Given the description of an element on the screen output the (x, y) to click on. 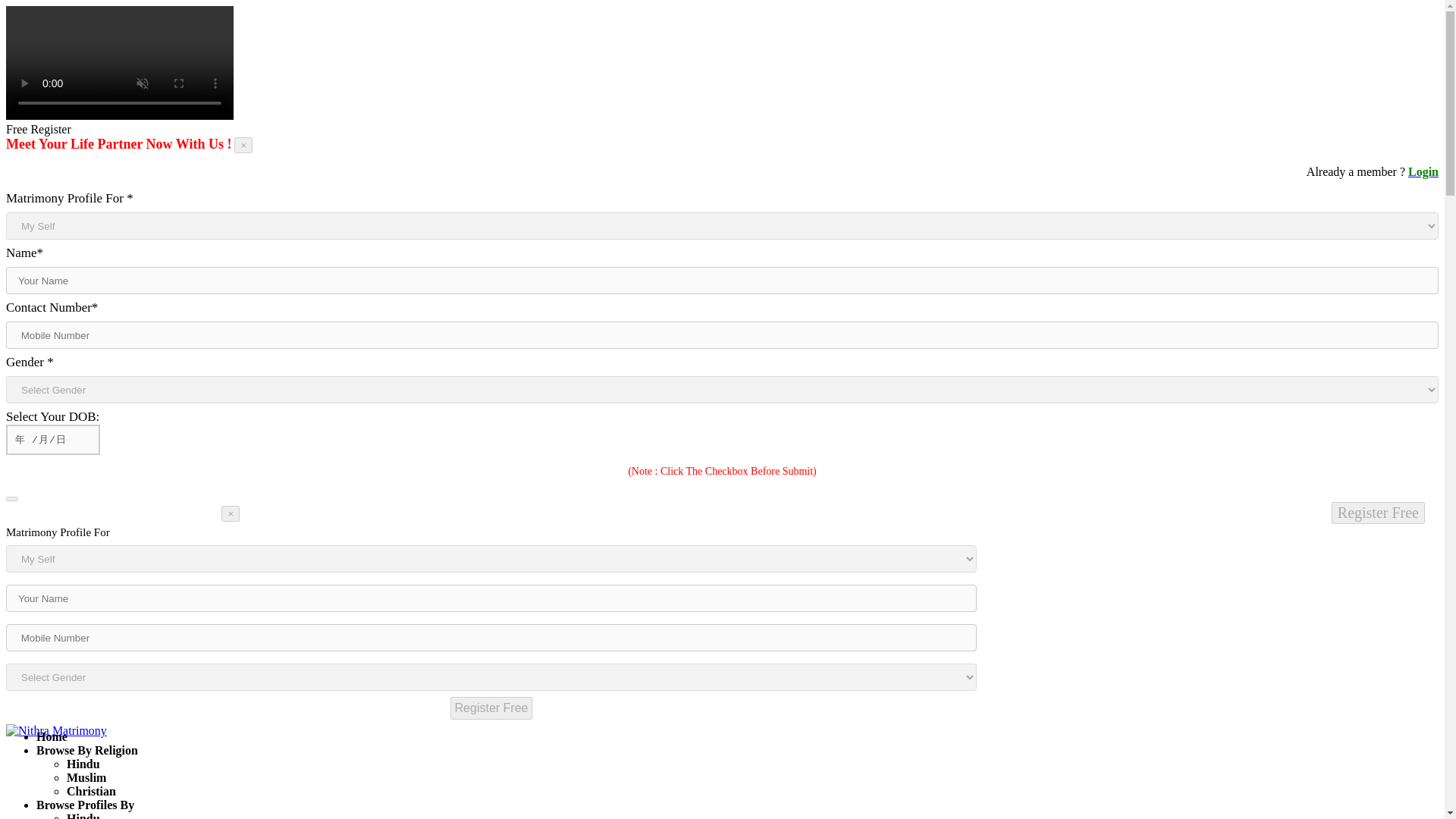
Register Free (490, 707)
Hindu (83, 763)
Browse Profiles By (84, 804)
Hindu (83, 815)
Browse By Religion (87, 749)
Browse Profiles By (84, 804)
Register Free (1378, 513)
Muslim (86, 777)
Register Free (1378, 513)
Home (51, 736)
Browse By Religion (87, 749)
Christian (91, 790)
Register Free (490, 707)
